Given the description of an element on the screen output the (x, y) to click on. 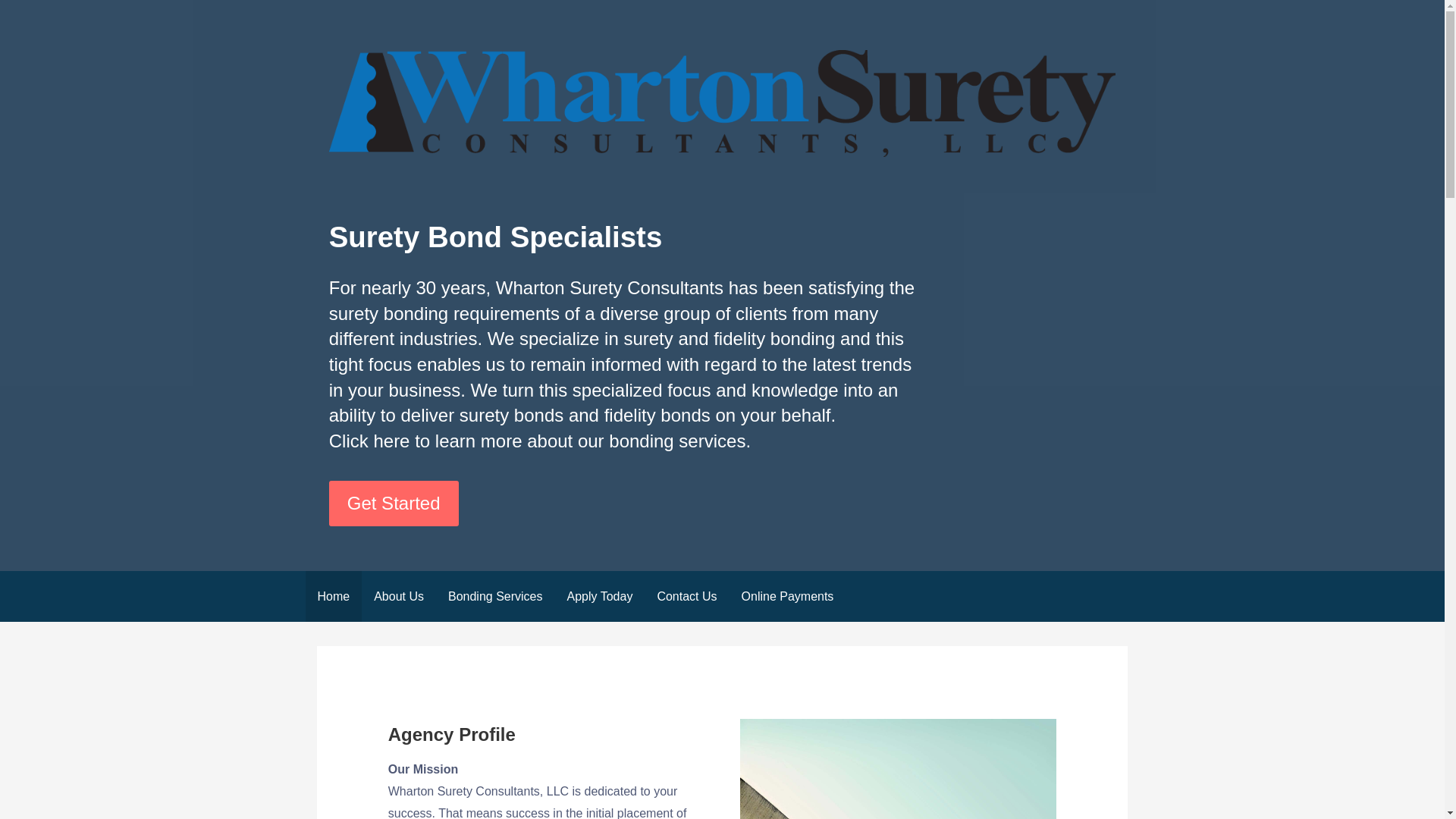
Wharton Surety Consultants, LLC (511, 183)
Online Payments (787, 595)
Bonding Services (494, 595)
Contact Us (687, 595)
home-4 (898, 769)
Get Started (393, 503)
About Us (398, 595)
Apply Today (599, 595)
Home (332, 595)
